Given the description of an element on the screen output the (x, y) to click on. 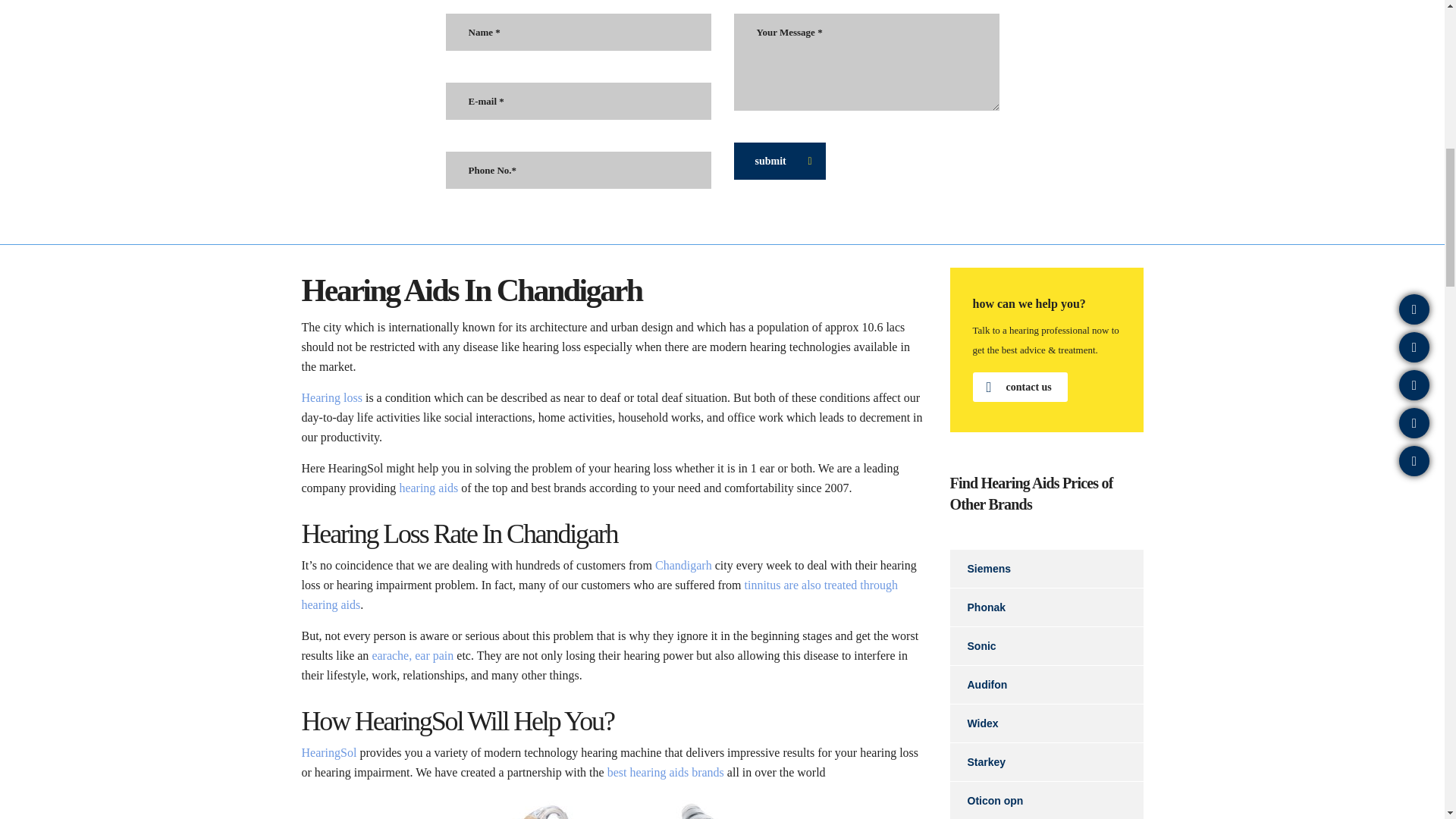
Chandigarh (683, 564)
HearingSol (328, 752)
hearing aids (428, 487)
tinnitus are also treated through hearing aids (599, 594)
earache, ear pain (411, 655)
Hearing loss (331, 397)
best hearing aids brands (665, 771)
submit (779, 160)
